Given the description of an element on the screen output the (x, y) to click on. 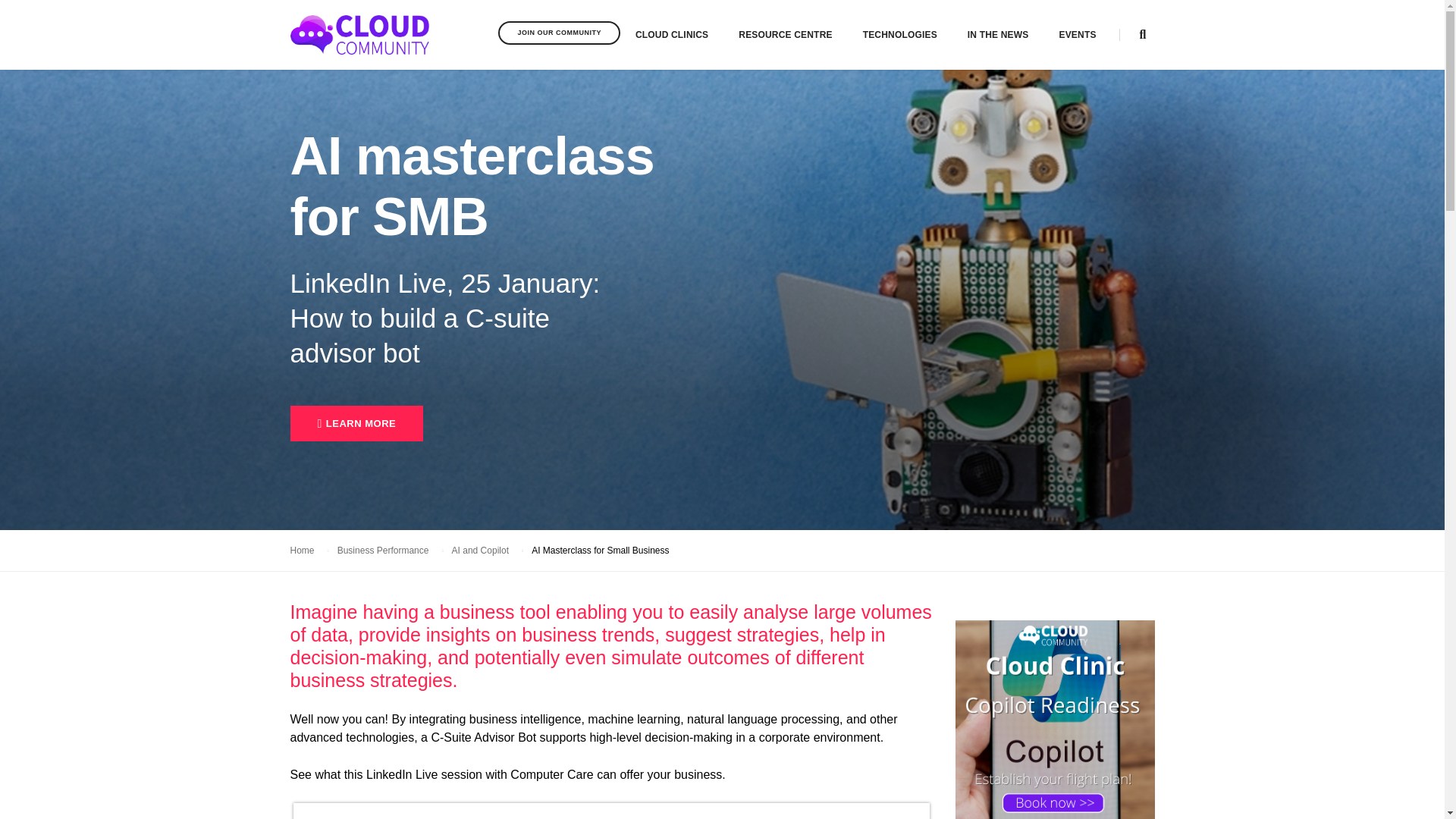
Home (359, 34)
CLOUD CLINICS (670, 34)
TECHNOLOGIES (900, 34)
JOIN OUR COMMUNITY (558, 33)
RESOURCE CENTRE (784, 34)
